Given the description of an element on the screen output the (x, y) to click on. 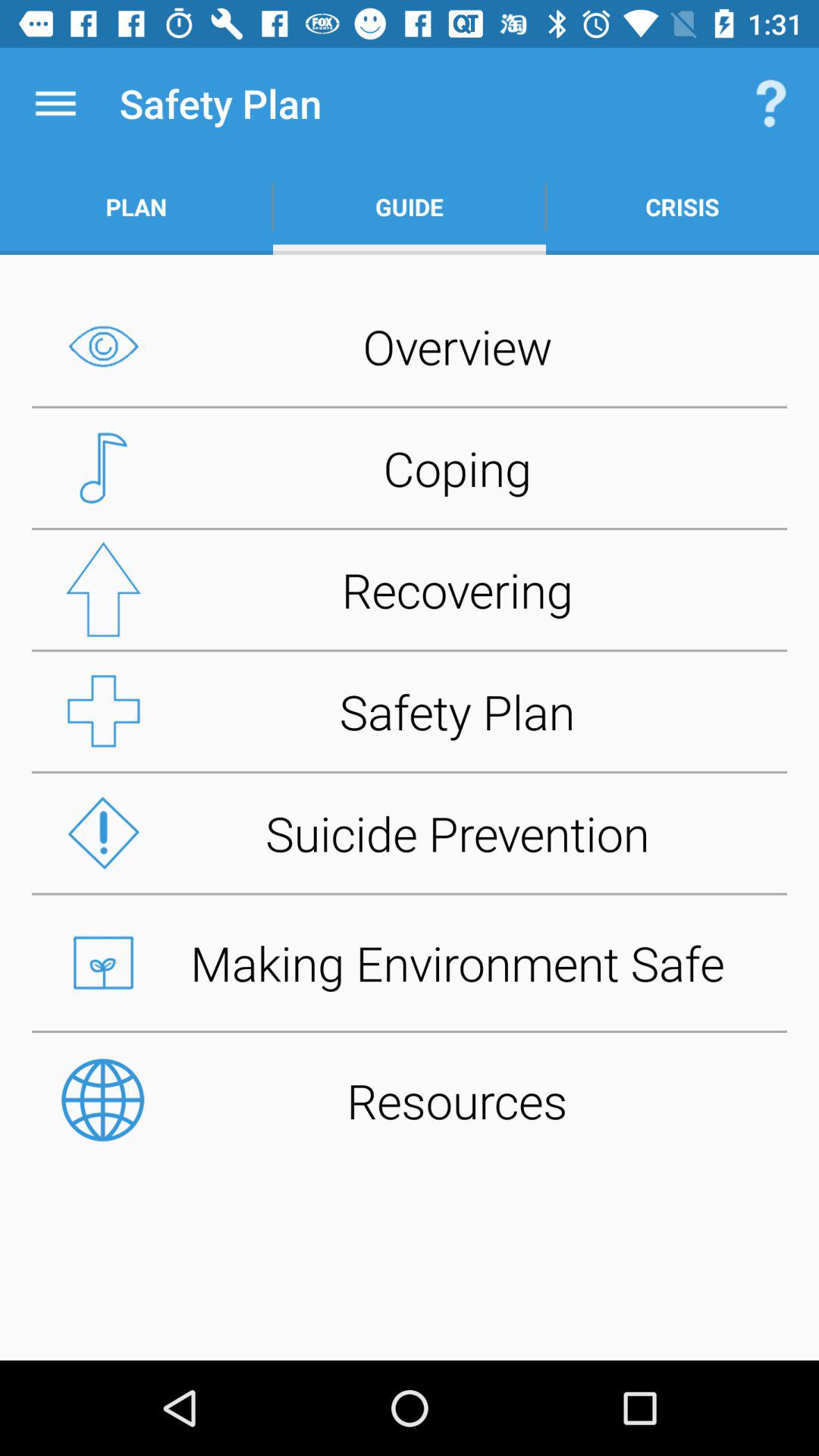
tap item next to safety plan (55, 103)
